Given the description of an element on the screen output the (x, y) to click on. 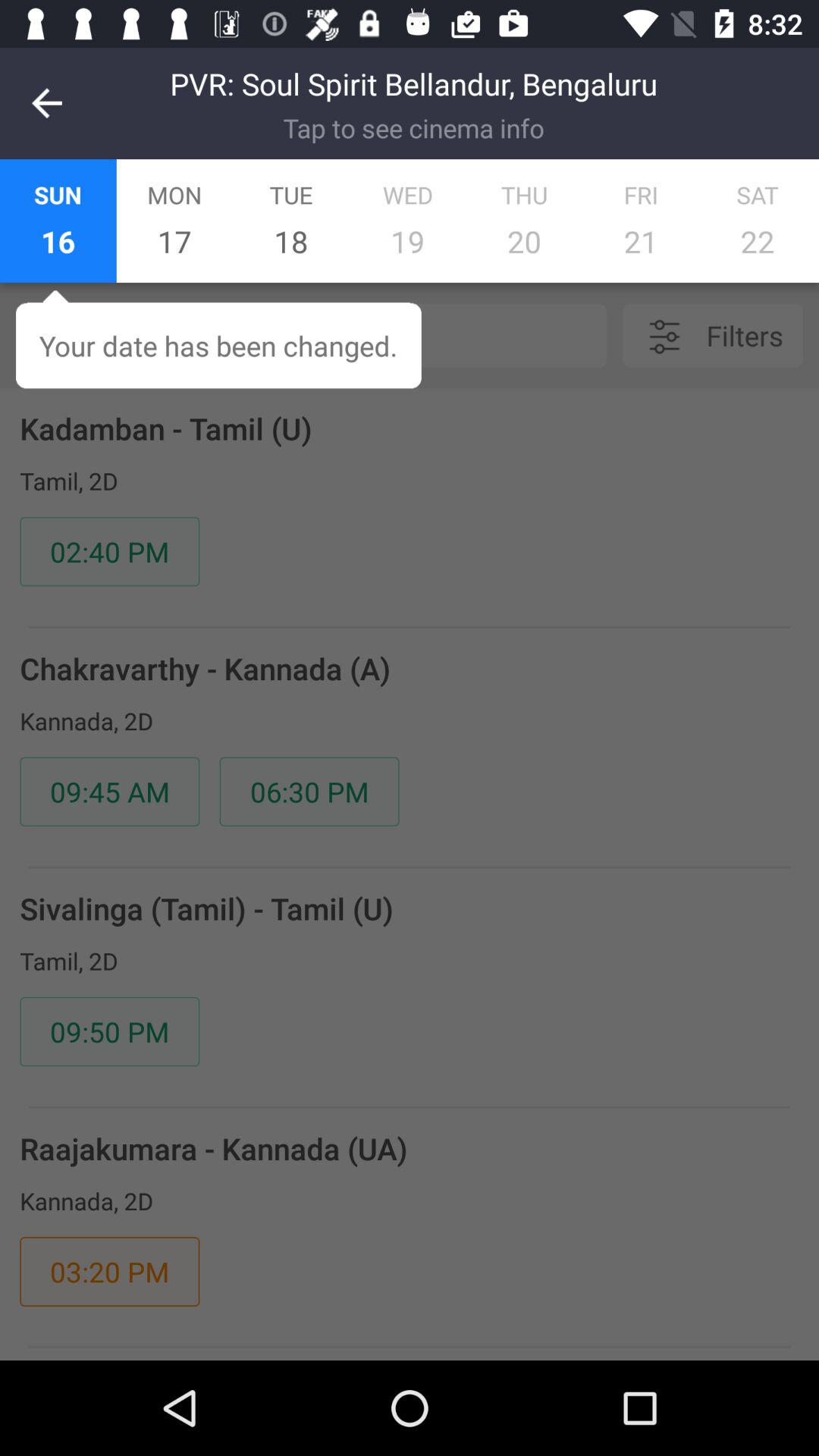
open the pvr soul spirit item (413, 83)
